Given the description of an element on the screen output the (x, y) to click on. 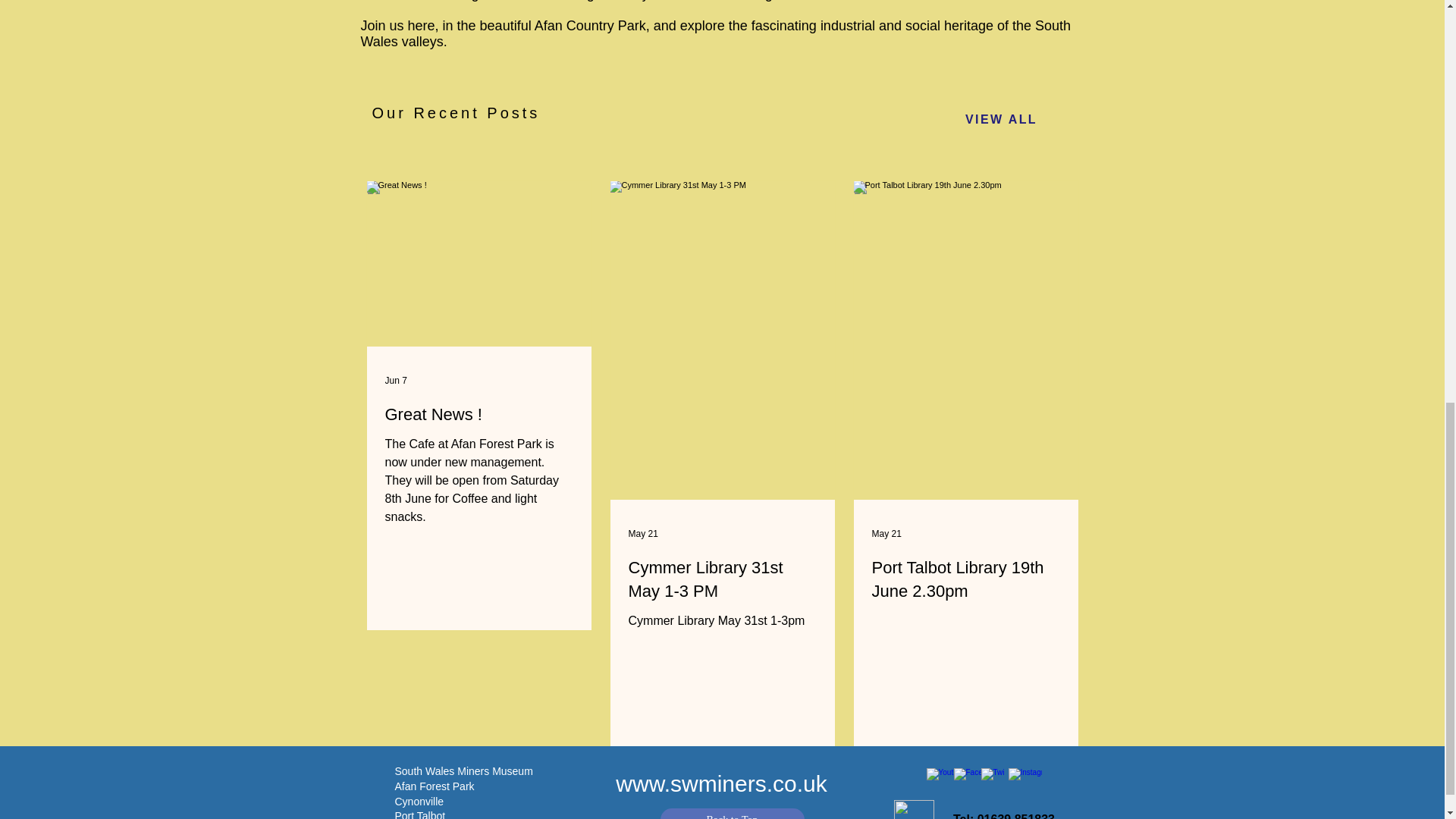
Back to Top (731, 813)
Great News ! (479, 414)
VIEW ALL (1001, 119)
May 21 (886, 533)
Jun 7 (396, 380)
Port Talbot Library 19th June 2.30pm (965, 579)
Cymmer Library 31st May 1-3 PM (721, 579)
www.swminers.co.uk (721, 783)
May 21 (642, 533)
